Given the description of an element on the screen output the (x, y) to click on. 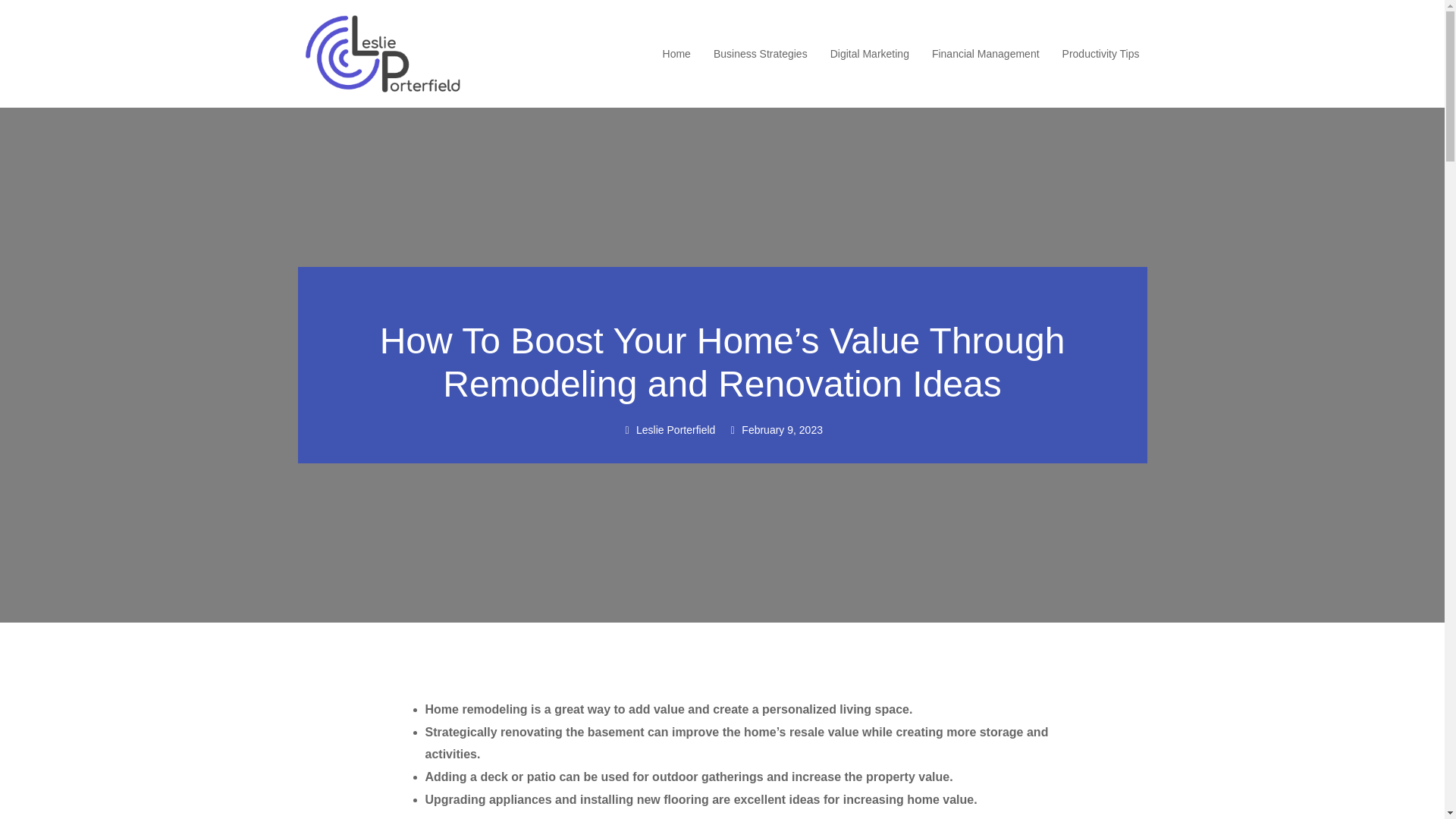
Leslie Porterfield (667, 430)
February 9, 2023 (774, 430)
Financial Management (985, 53)
Home (676, 53)
Productivity Tips (1101, 53)
UNCATEGORIZED (722, 295)
Business Strategies (760, 53)
Digital Marketing (868, 53)
